Given the description of an element on the screen output the (x, y) to click on. 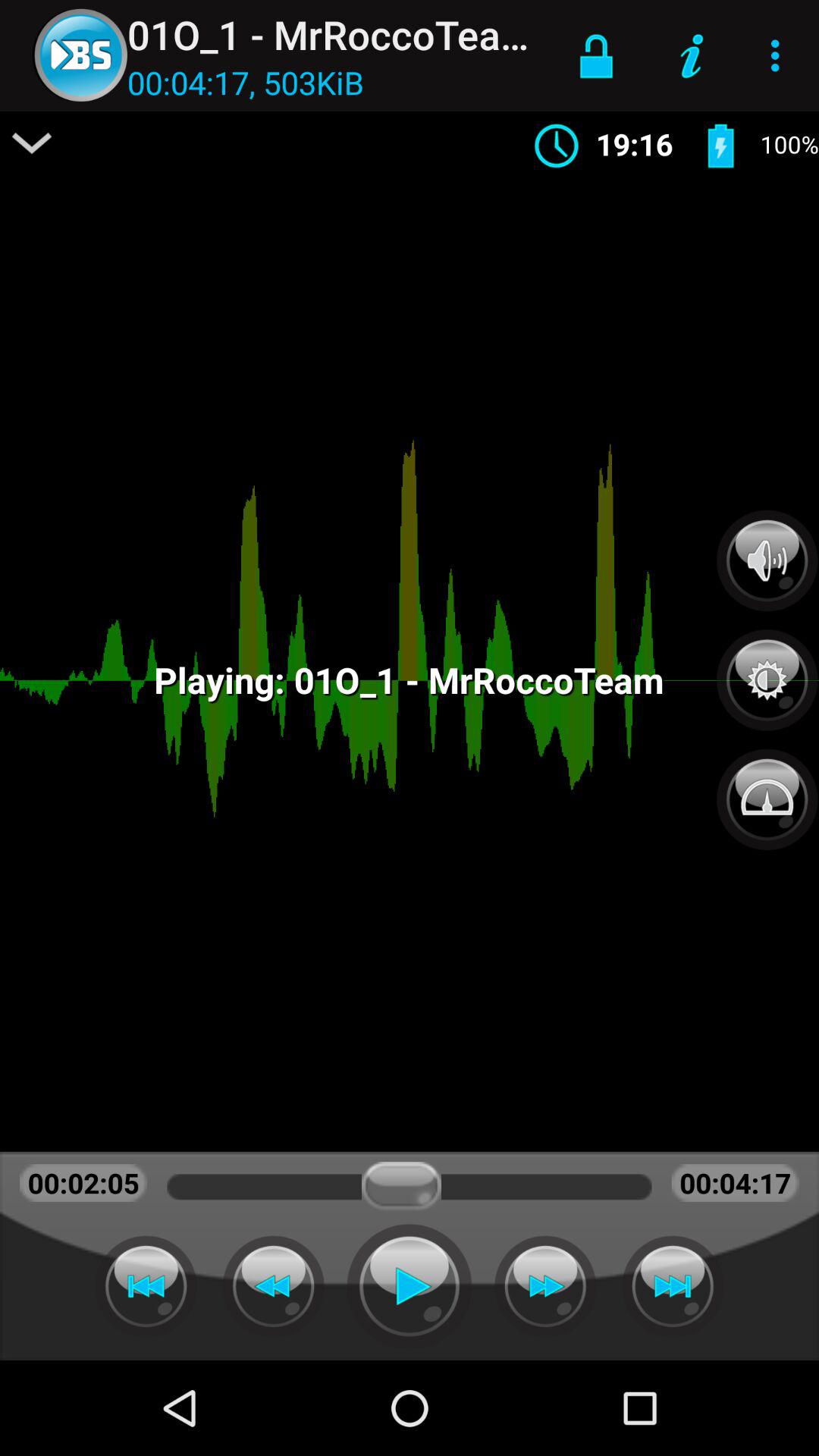
adjust audio (767, 560)
